Given the description of an element on the screen output the (x, y) to click on. 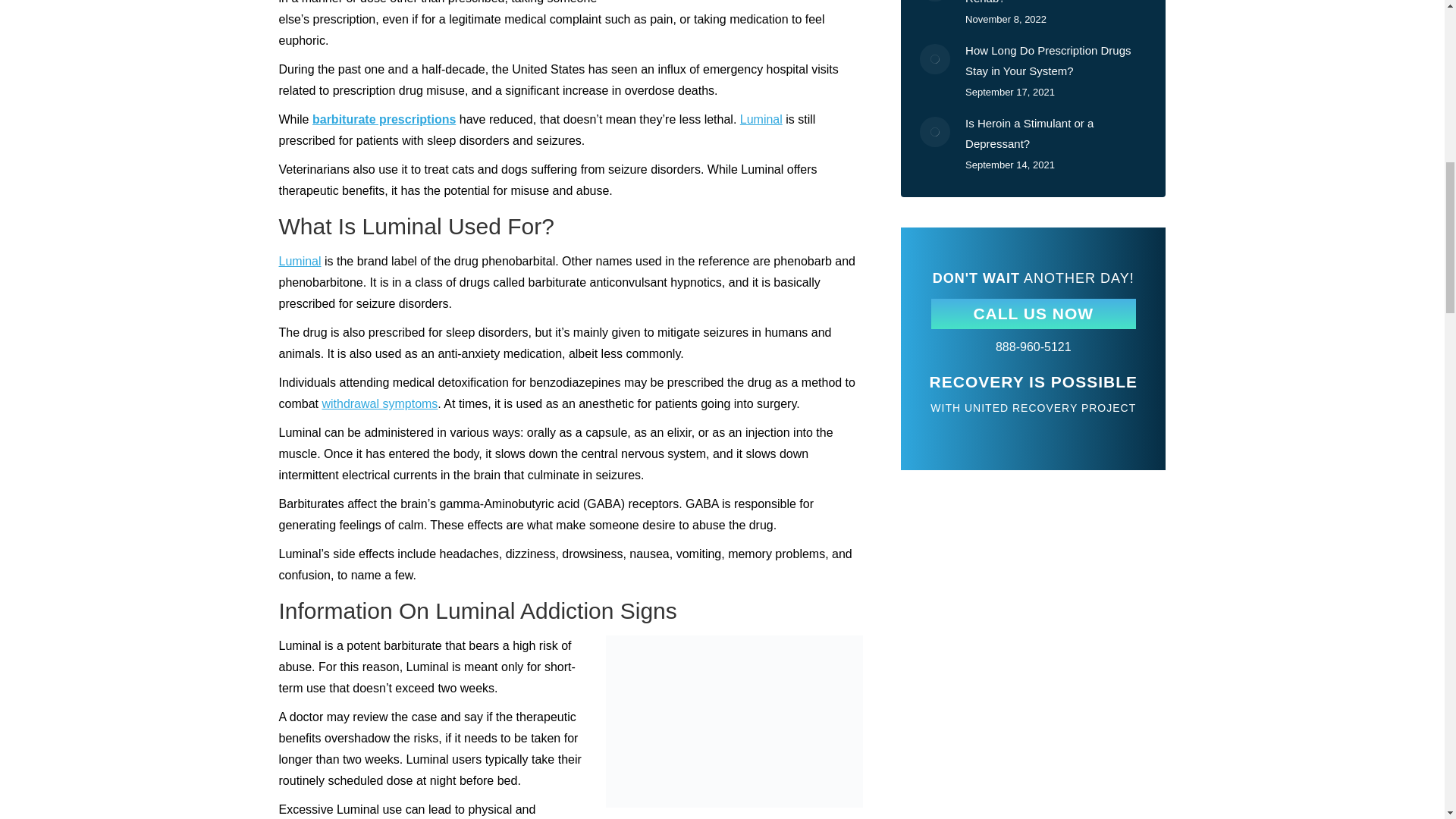
Contact Us (1033, 313)
